Given the description of an element on the screen output the (x, y) to click on. 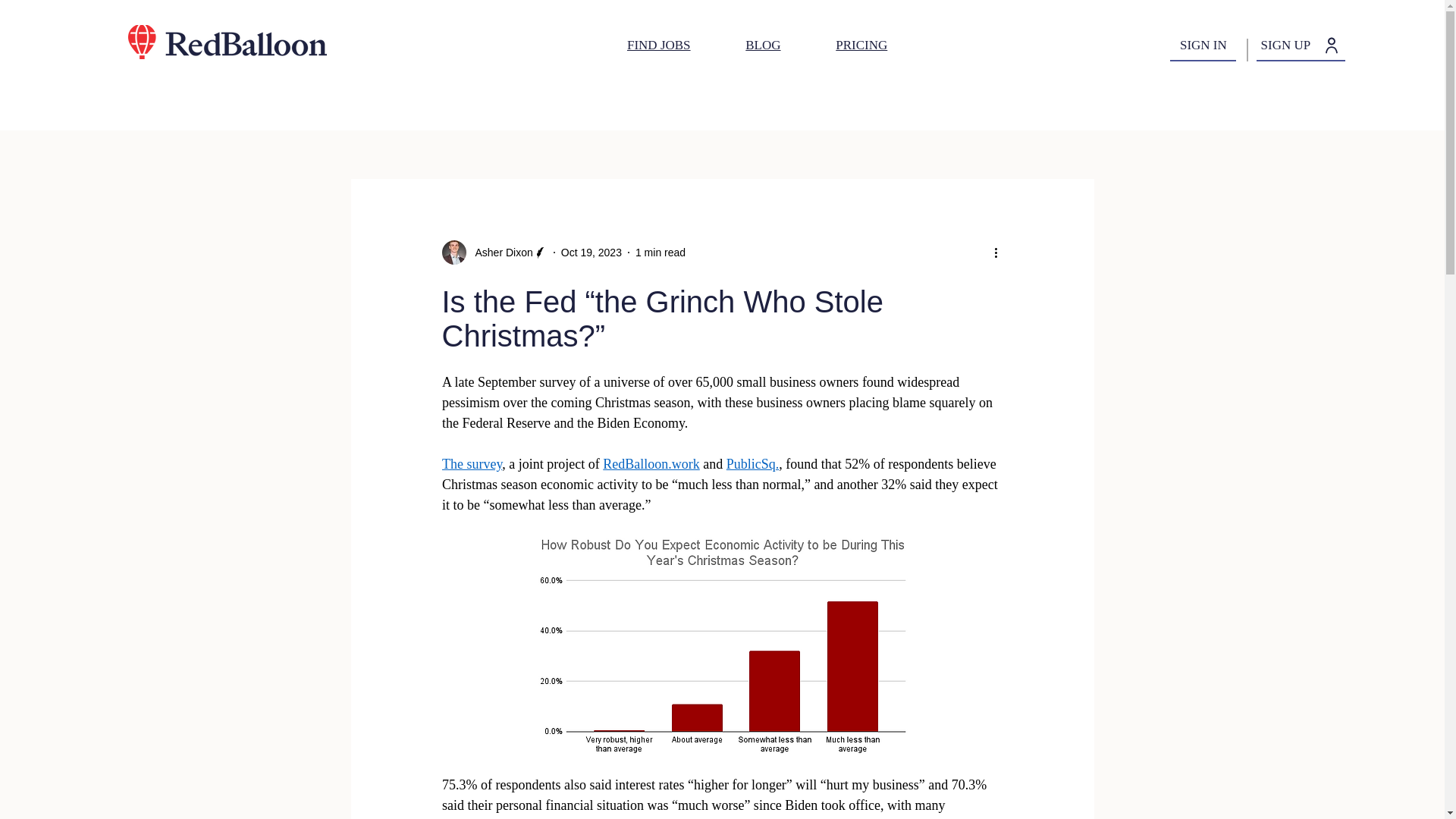
PRICING (861, 45)
The survey (470, 463)
PublicSq. (751, 463)
Oct 19, 2023 (590, 251)
RedBalloon.work (651, 463)
BLOG (762, 45)
FIND JOBS (658, 45)
SIGN IN (1203, 46)
Asher Dixon (498, 252)
